Given the description of an element on the screen output the (x, y) to click on. 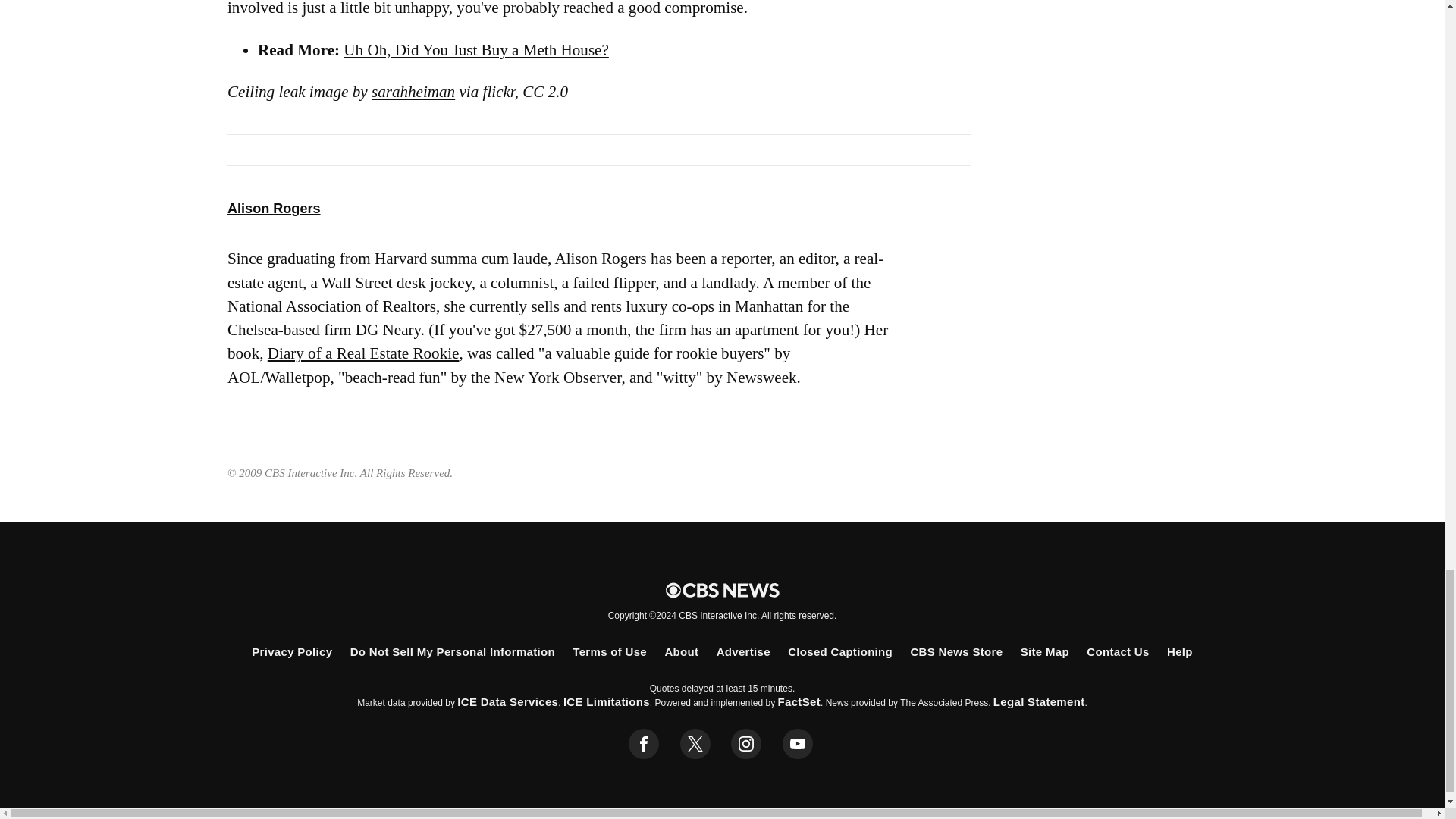
instagram (745, 743)
facebook (643, 743)
twitter (694, 743)
youtube (797, 743)
